Given the description of an element on the screen output the (x, y) to click on. 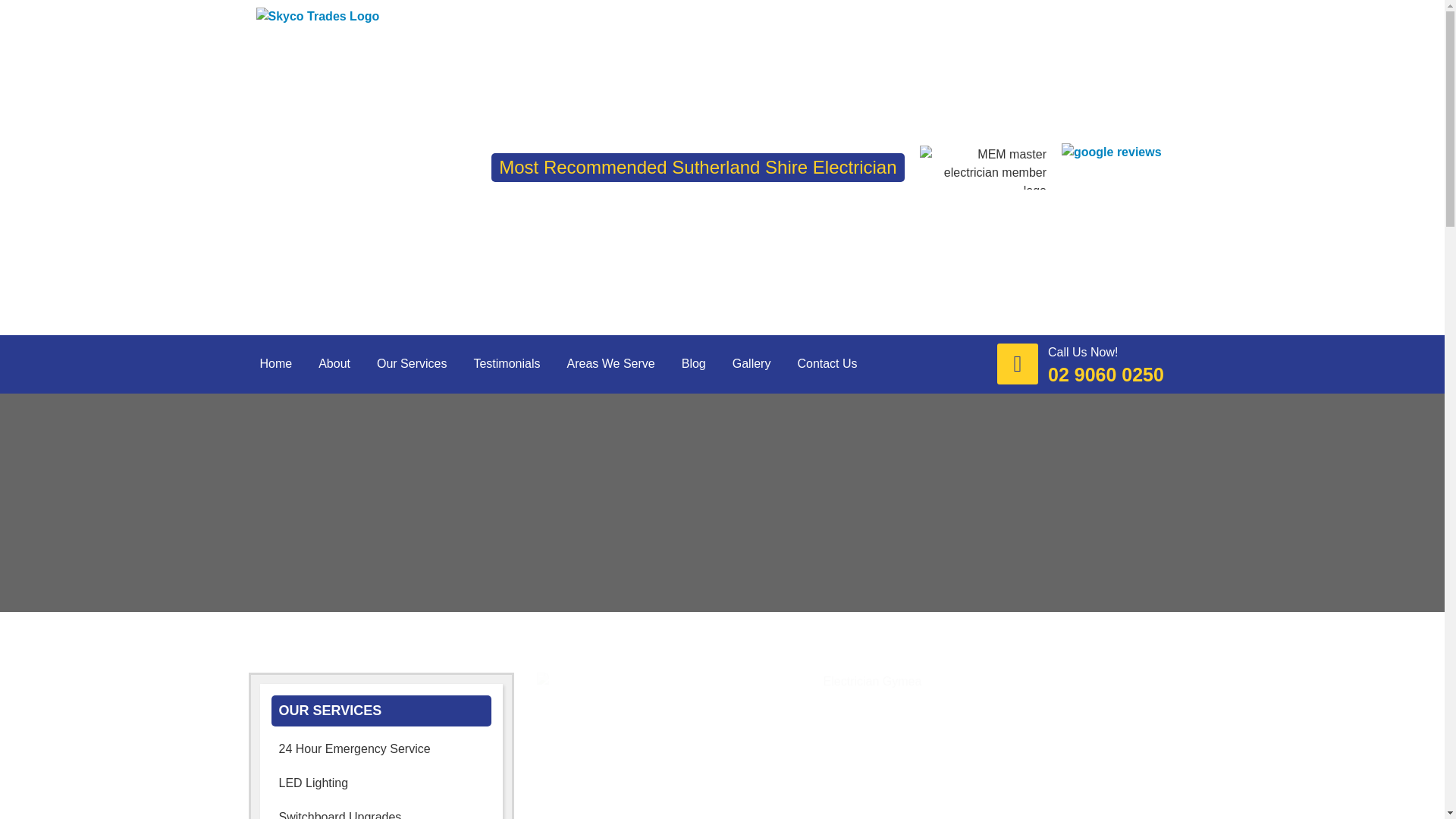
Areas We Serve (609, 363)
About (334, 363)
Our Services (411, 363)
Home (276, 363)
Testimonials (506, 363)
